Given the description of an element on the screen output the (x, y) to click on. 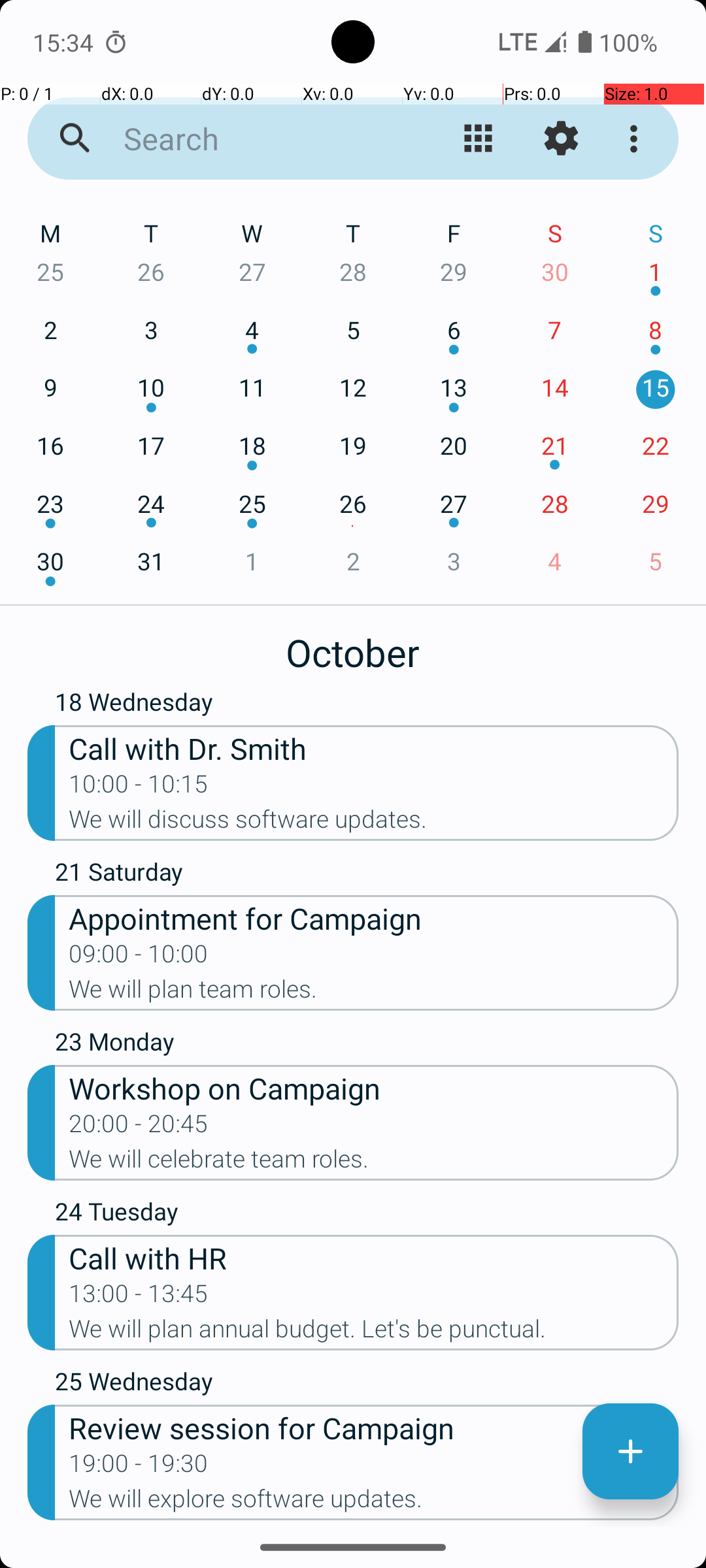
18 Wednesday Element type: android.widget.TextView (366, 704)
21 Saturday Element type: android.widget.TextView (366, 874)
23 Monday Element type: android.widget.TextView (366, 1044)
24 Tuesday Element type: android.widget.TextView (366, 1214)
25 Wednesday Element type: android.widget.TextView (366, 1384)
Call with Dr. Smith Element type: android.widget.TextView (373, 747)
10:00 - 10:15 Element type: android.widget.TextView (137, 787)
We will discuss software updates. Element type: android.widget.TextView (373, 822)
Appointment for Campaign Element type: android.widget.TextView (373, 917)
09:00 - 10:00 Element type: android.widget.TextView (137, 957)
We will plan team roles. Element type: android.widget.TextView (373, 992)
20:00 - 20:45 Element type: android.widget.TextView (137, 1127)
We will celebrate team roles. Element type: android.widget.TextView (373, 1162)
Call with HR Element type: android.widget.TextView (373, 1256)
13:00 - 13:45 Element type: android.widget.TextView (137, 1297)
We will plan annual budget. Let's be punctual. Element type: android.widget.TextView (373, 1332)
19:00 - 19:30 Element type: android.widget.TextView (137, 1467)
We will explore software updates. Element type: android.widget.TextView (373, 1502)
